Given the description of an element on the screen output the (x, y) to click on. 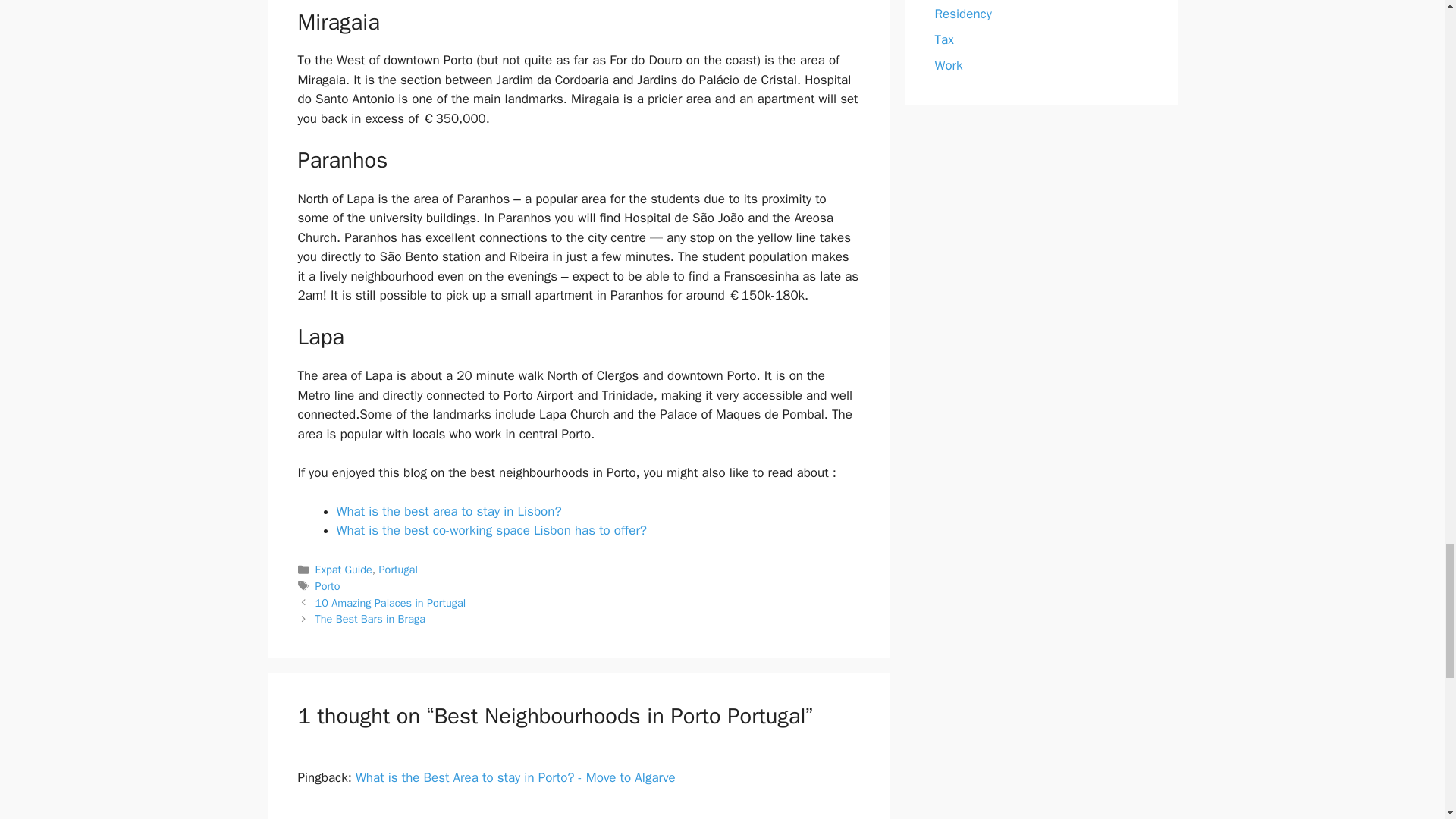
Portugal (397, 569)
10 Amazing Palaces in Portugal (390, 602)
Expat Guide (343, 569)
Porto (327, 585)
What is the best co-working space Lisbon has to offer? (491, 530)
What is the best area to stay in Lisbon? (449, 511)
